Given the description of an element on the screen output the (x, y) to click on. 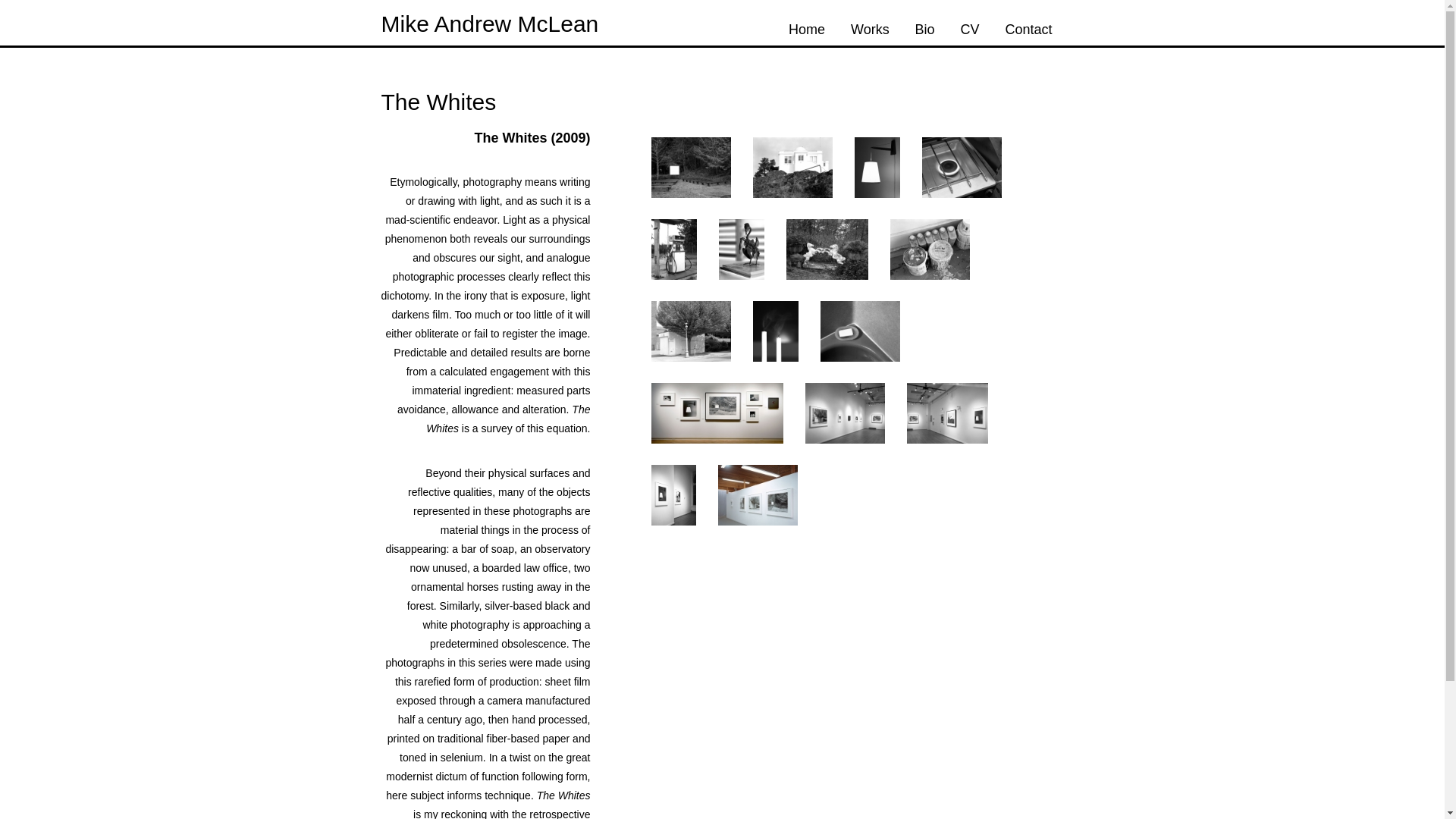
07 (826, 249)
04 (961, 167)
Bio (925, 29)
Contact (1027, 29)
08 (929, 249)
Home (806, 29)
CV (969, 29)
Works (870, 29)
01 (690, 167)
02 (792, 167)
